Given the description of an element on the screen output the (x, y) to click on. 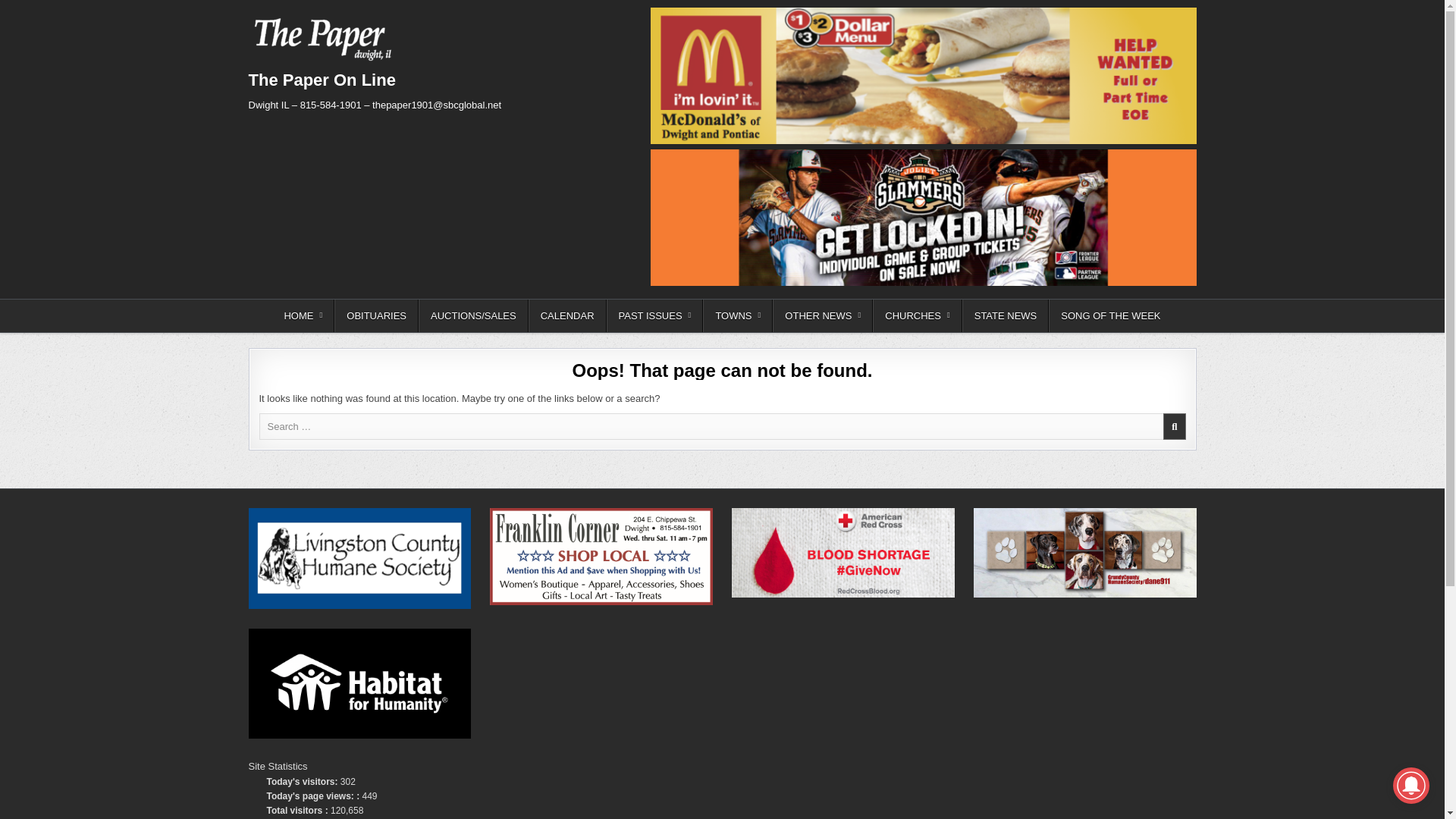
HOME (303, 315)
CALENDAR (567, 315)
OTHER NEWS (822, 315)
OBITUARIES (376, 315)
The Paper On Line (322, 79)
PAST ISSUES (655, 315)
CHURCHES (916, 315)
TOWNS (738, 315)
